Given the description of an element on the screen output the (x, y) to click on. 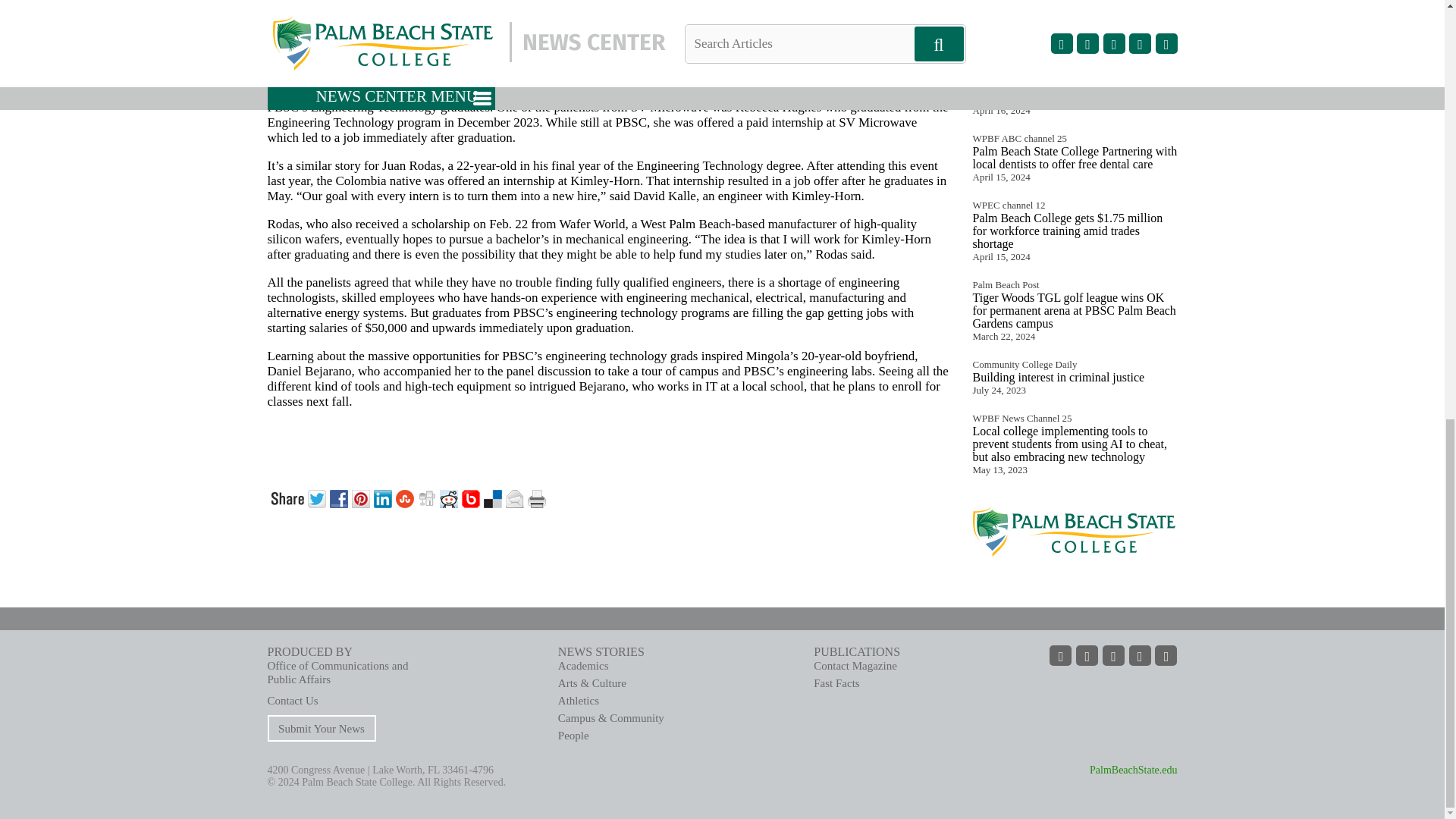
Reddit (450, 496)
Digg (427, 496)
StumbleUpon (406, 496)
Email (516, 496)
Facebook (339, 496)
Twitter (318, 496)
Pinterest (363, 496)
Print (538, 496)
Delicious (494, 496)
Bebo (472, 496)
